Given the description of an element on the screen output the (x, y) to click on. 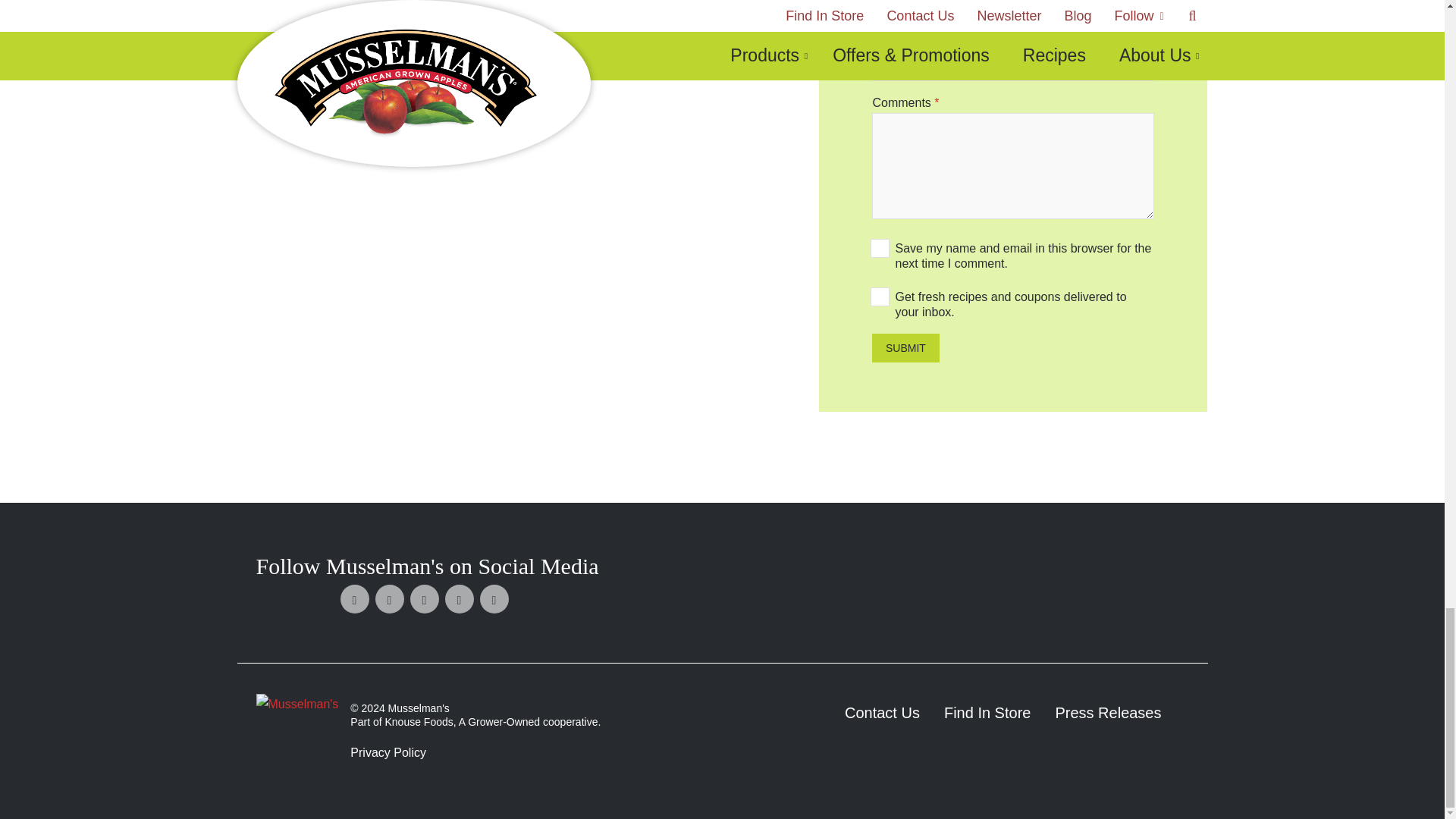
Pinterest (424, 598)
Facebook (354, 598)
Submit (905, 347)
YouTube (494, 598)
Twitter (389, 598)
Instagram (459, 598)
